Given the description of an element on the screen output the (x, y) to click on. 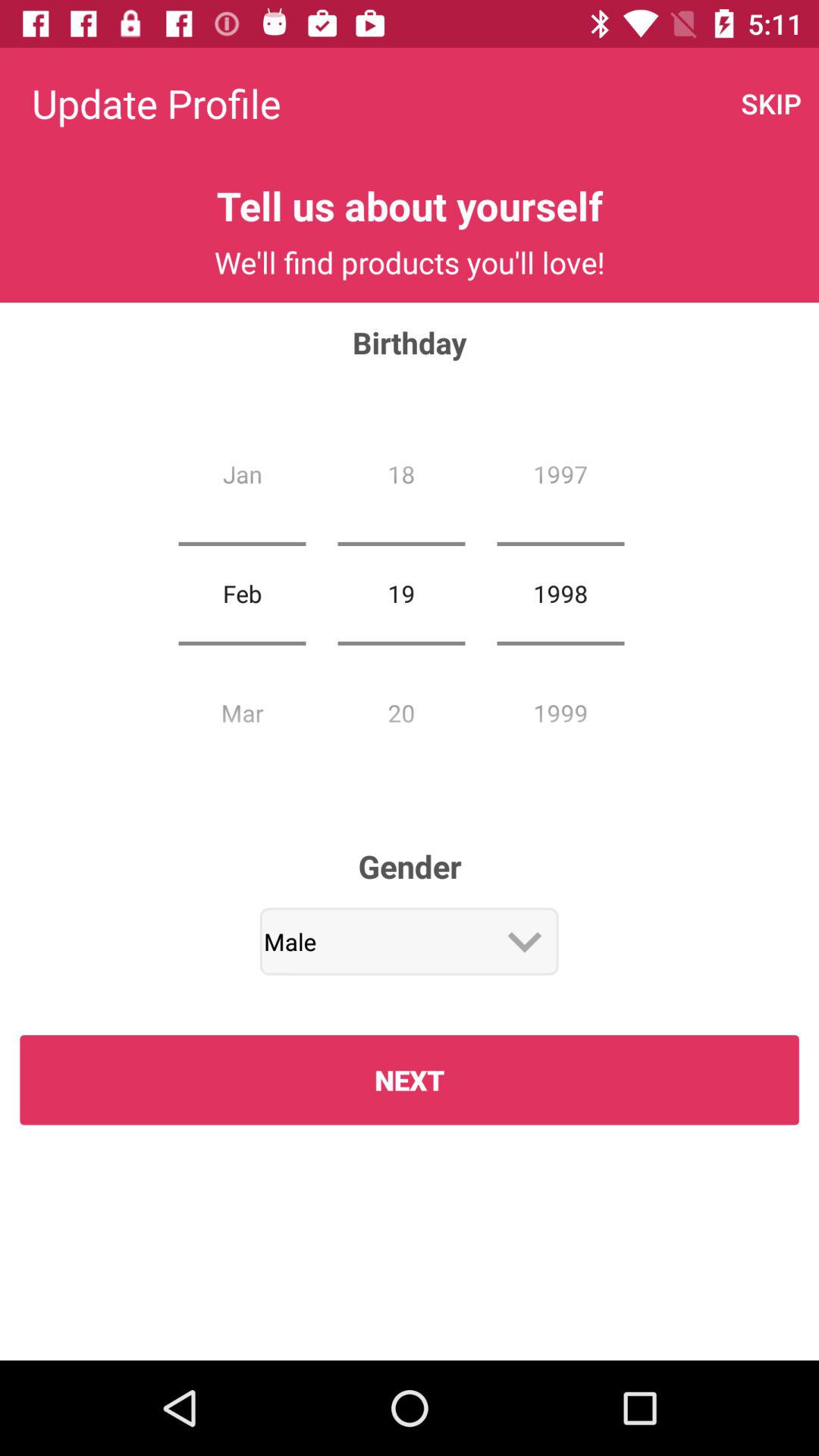
turn off item next to feb icon (401, 593)
